Given the description of an element on the screen output the (x, y) to click on. 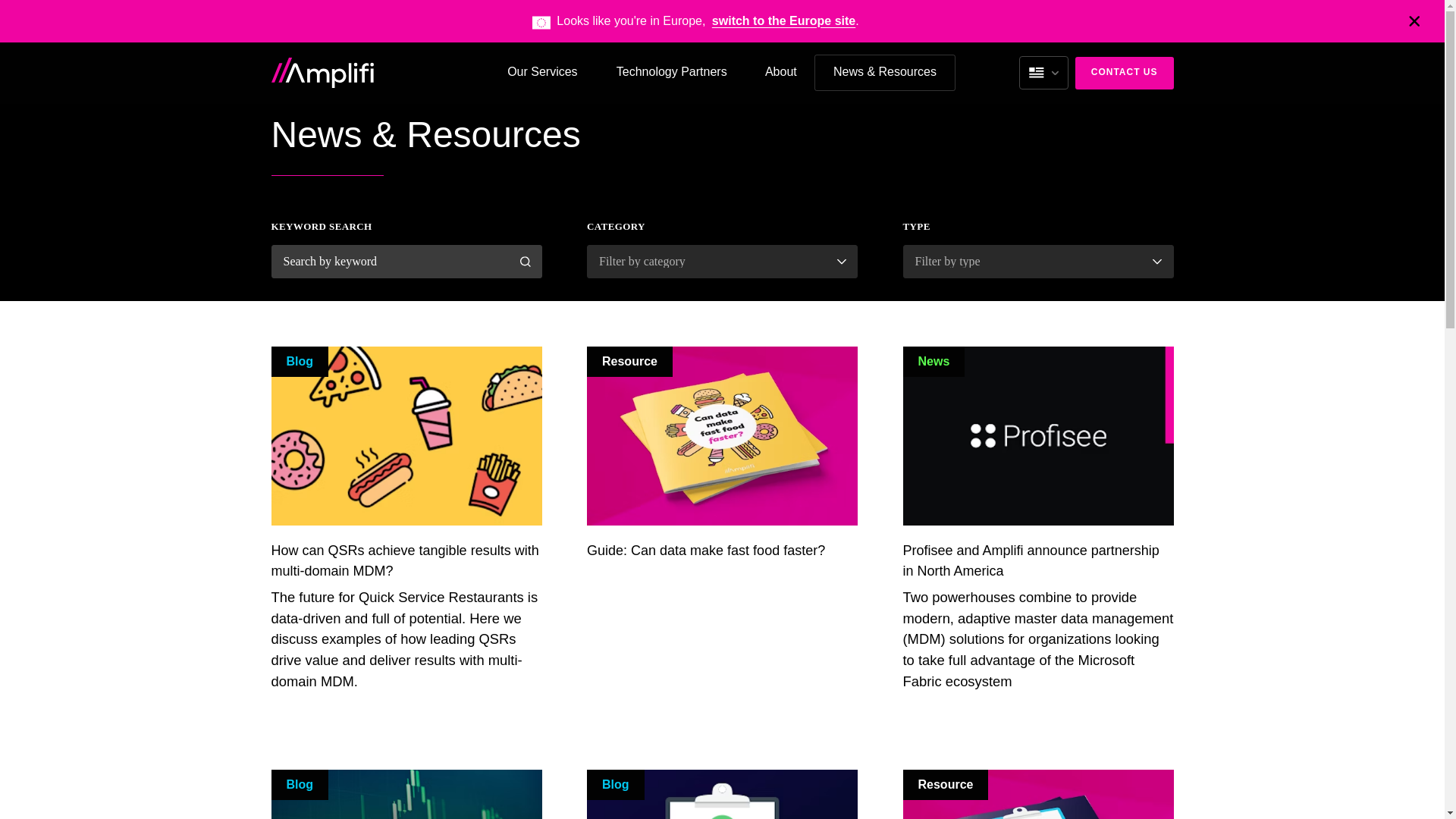
switch to the Europe site (783, 20)
Close site switcher (1414, 20)
Our Services (542, 72)
